Given the description of an element on the screen output the (x, y) to click on. 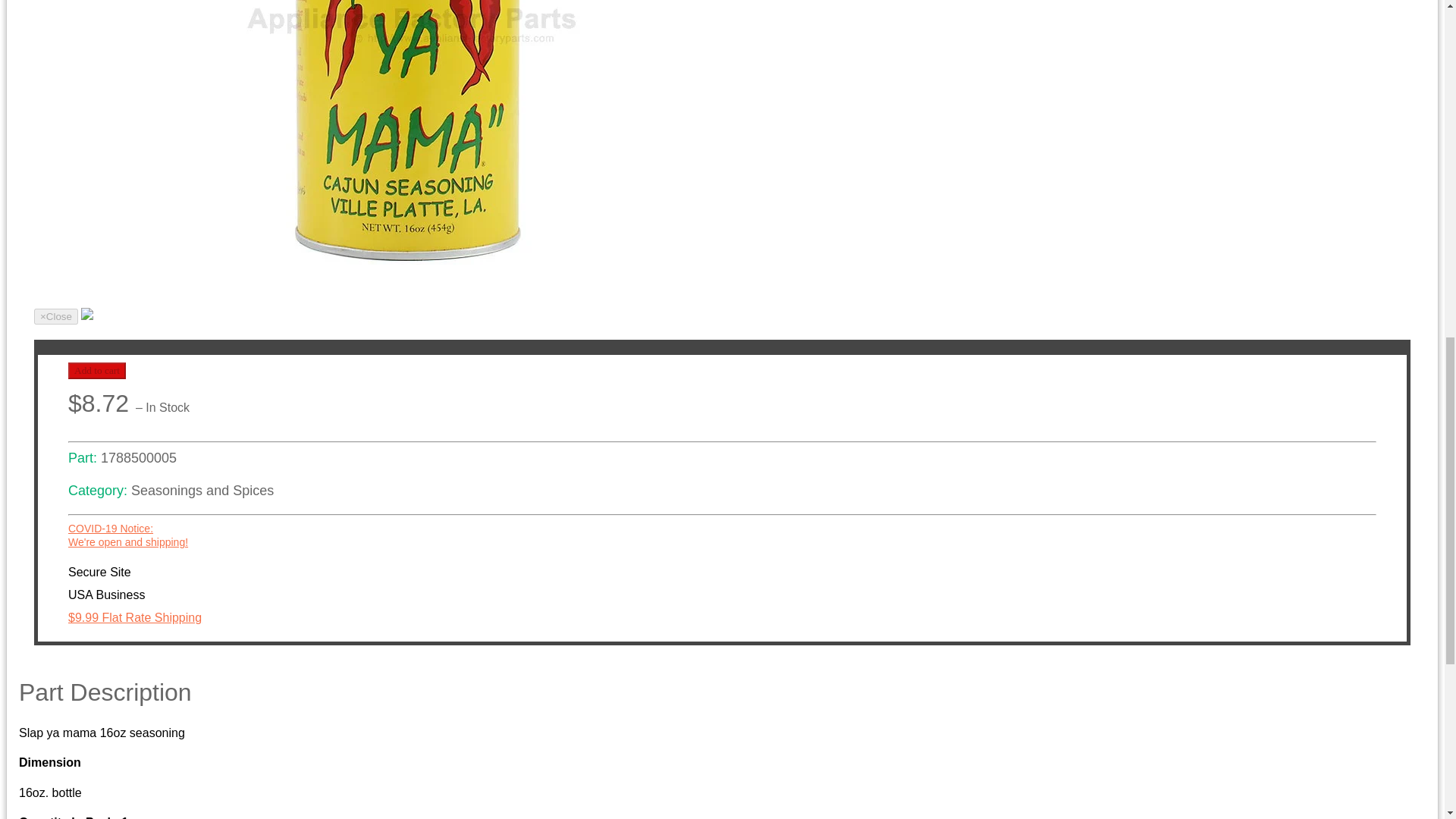
Add to cart (96, 370)
